Given the description of an element on the screen output the (x, y) to click on. 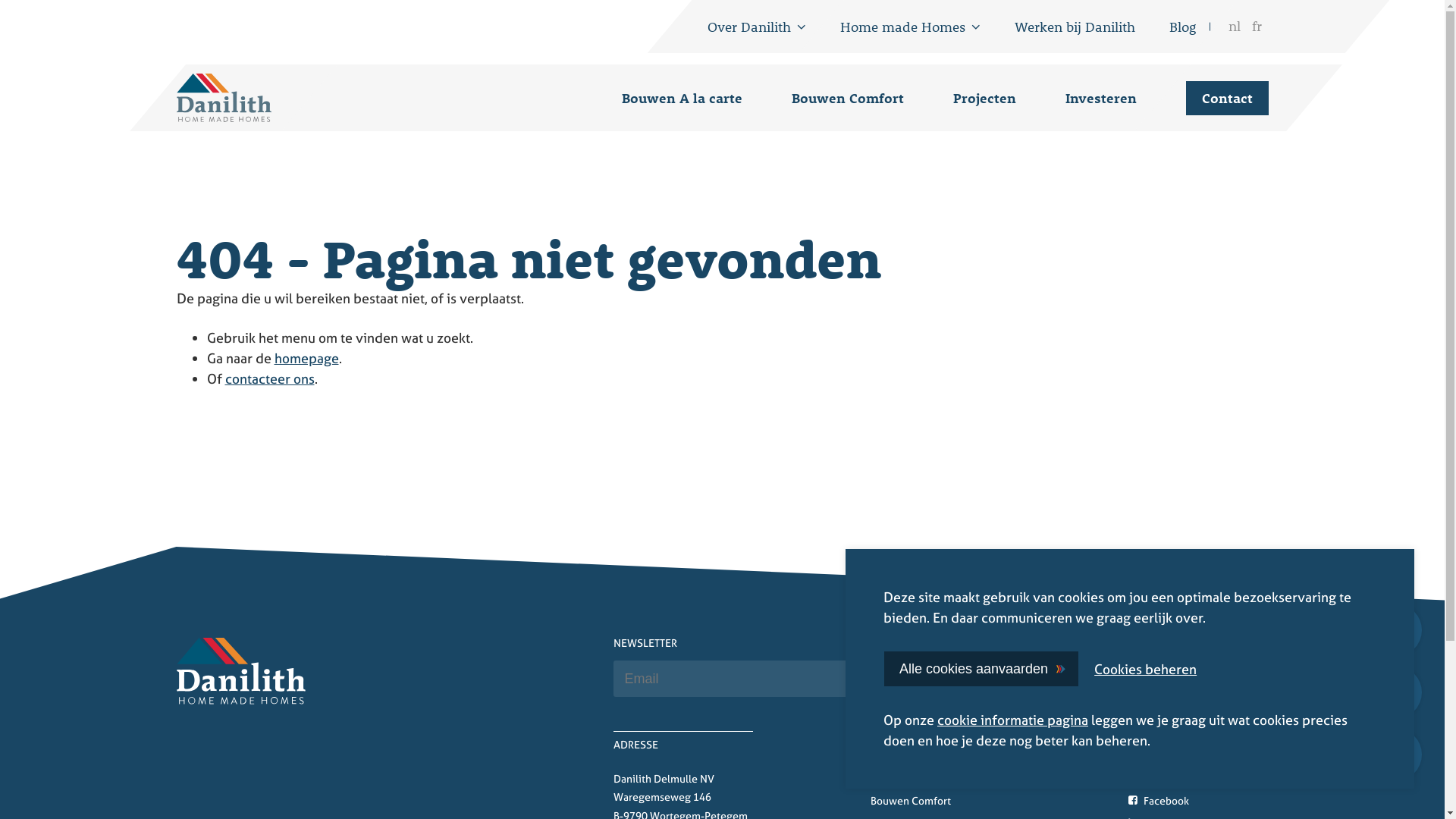
Facebook Element type: text (1158, 800)
Bouwen Comfort Element type: text (940, 800)
Bouwen A la carte Element type: text (940, 778)
homepage Element type: text (306, 357)
Home Element type: hover (239, 670)
Over Danilith Element type: text (755, 26)
Home Element type: hover (222, 97)
Contact Element type: text (1227, 98)
Blog Element type: text (1182, 26)
Investeren Element type: text (1099, 97)
Instagram Element type: text (1159, 778)
nl Element type: text (1233, 26)
Bouwen A la carte Element type: text (681, 97)
Home made Homes Element type: text (910, 26)
Bouwen Comfort Element type: text (847, 97)
contacteer ons Element type: text (268, 378)
Alle cookies aanvaarden Element type: text (981, 668)
Werken bij Danilith Element type: text (1074, 26)
Projecten Element type: text (983, 97)
fr Element type: text (1256, 26)
cookie informatie pagina Element type: text (1012, 719)
Inschrijven Element type: text (1212, 678)
